Given the description of an element on the screen output the (x, y) to click on. 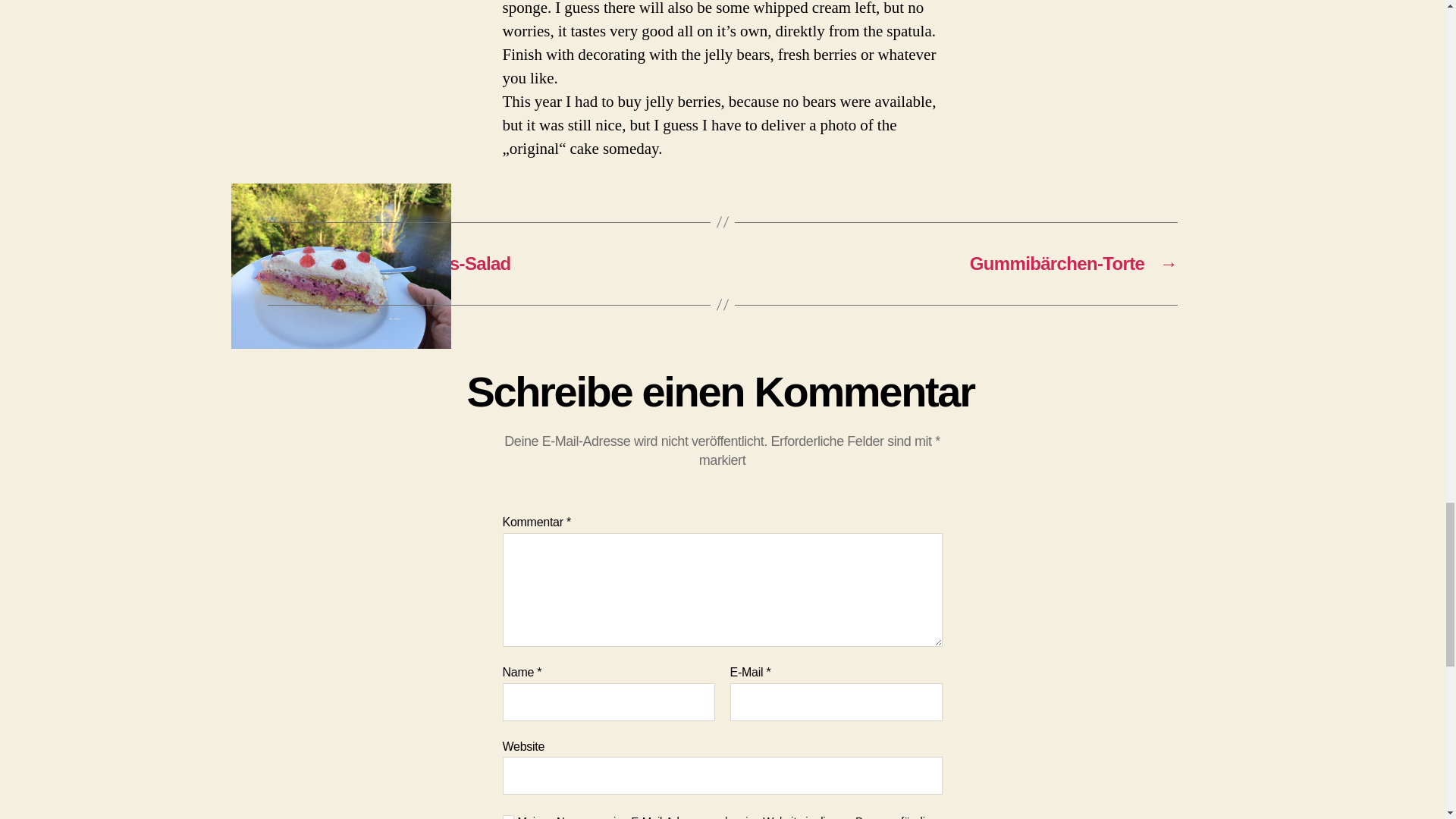
yes (507, 816)
